Given the description of an element on the screen output the (x, y) to click on. 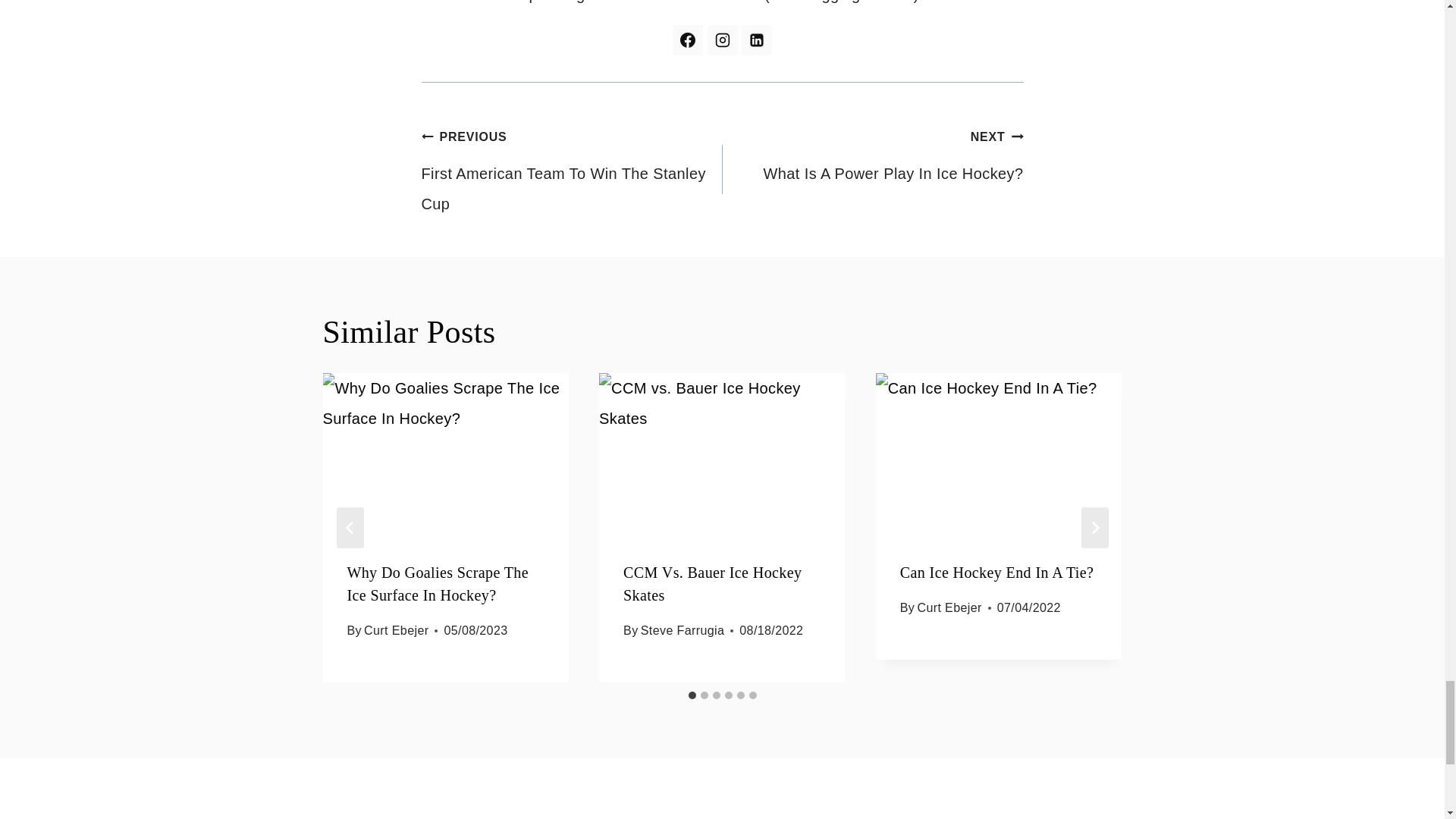
Follow Steve Farrugia on Facebook (687, 40)
Follow Steve Farrugia on Instagram (721, 40)
Follow Steve Farrugia on Linkedin (756, 40)
